Given the description of an element on the screen output the (x, y) to click on. 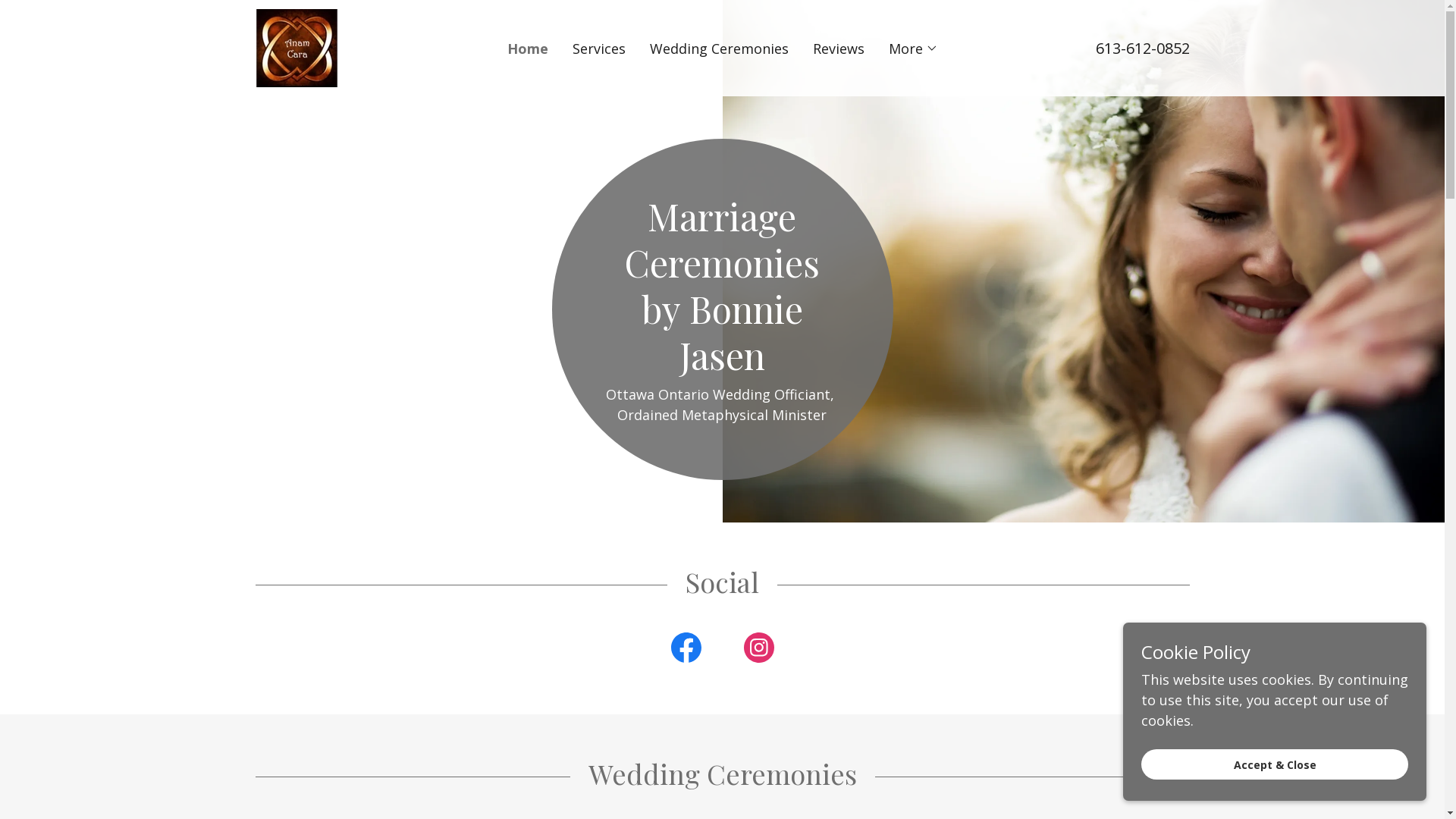
Home Element type: text (526, 48)
613-612-0852 Element type: text (1142, 47)
Reviews Element type: text (838, 48)
Wedding Ceremonies Element type: text (718, 48)
Services Element type: text (598, 48)
Accept & Close Element type: text (1274, 764)
More Element type: text (913, 48)
Anam Cara Ministy Element type: hover (295, 46)
